Given the description of an element on the screen output the (x, y) to click on. 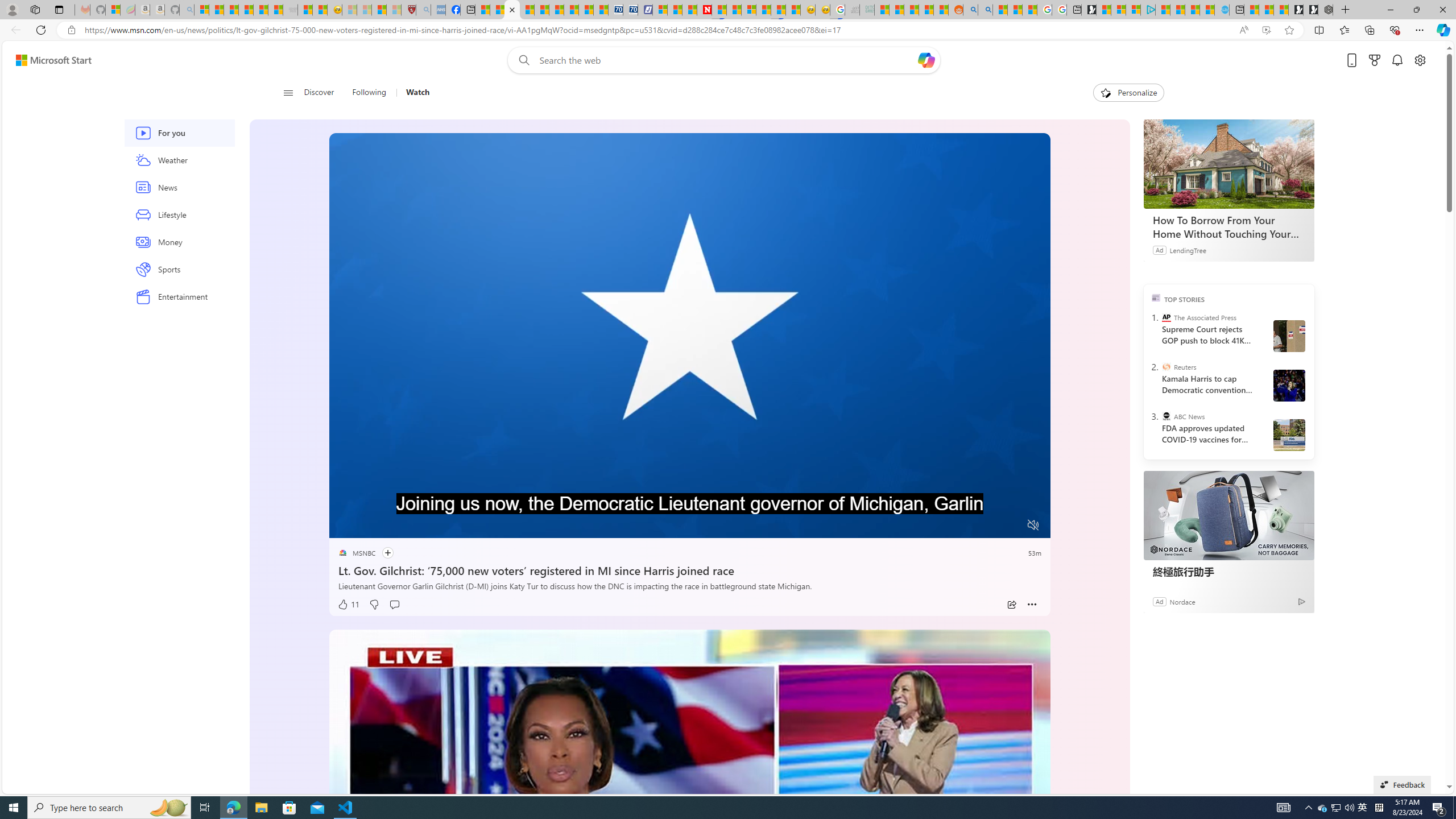
12 Popular Science Lies that Must be Corrected - Sleeping (393, 9)
Pause (346, 525)
Share (1010, 604)
Seek Forward (391, 525)
